Given the description of an element on the screen output the (x, y) to click on. 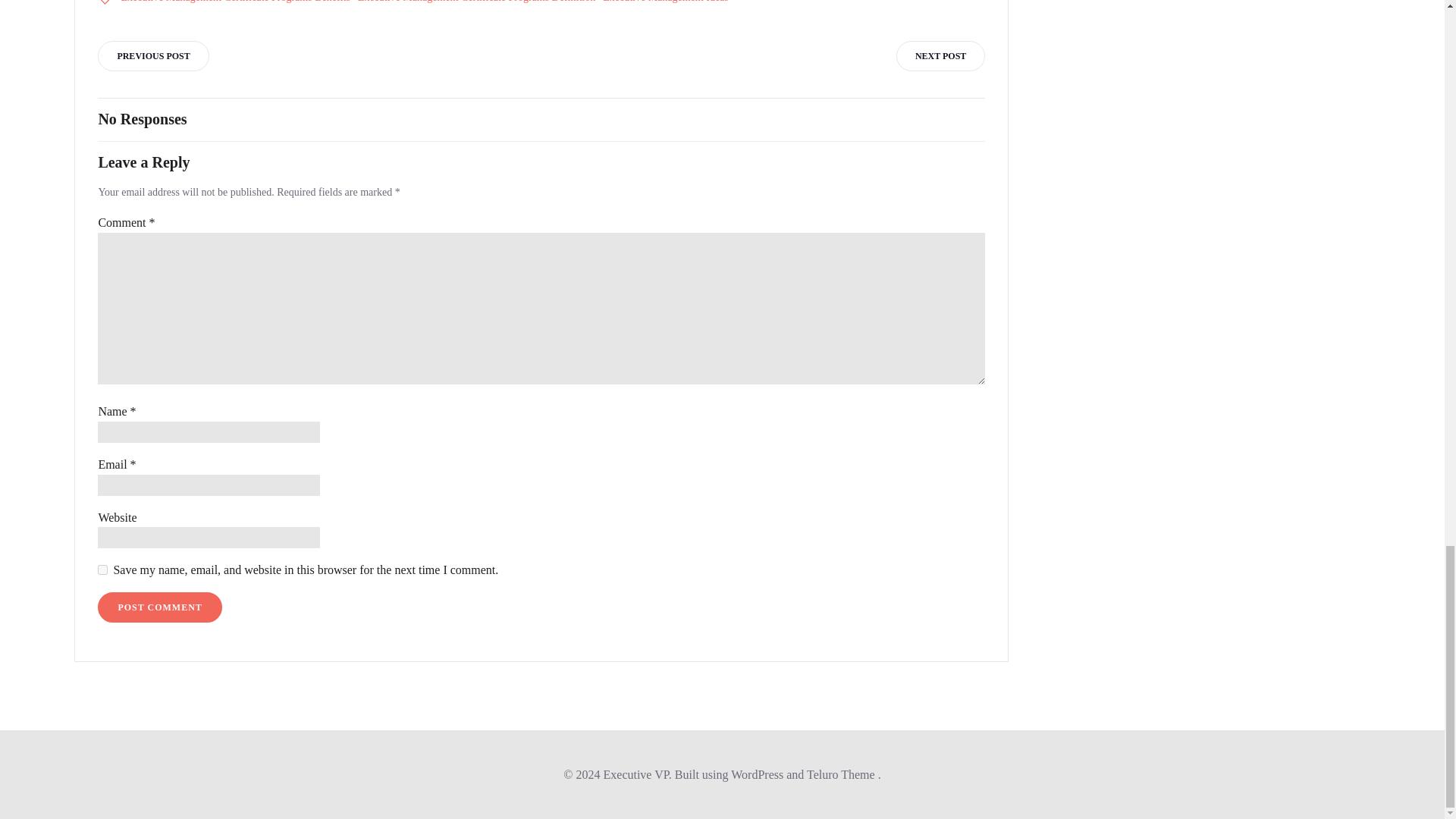
Tag: Executive Management Certificate Programs Definition (476, 2)
Executive Management Certificate Programs Definition (476, 2)
Executive Management Ideas (665, 2)
NEXT POST (940, 55)
Executive Management Certificate Programs Benefits (234, 2)
Post Comment (159, 607)
Tag: Executive Management Certificate Programs Benefits (234, 2)
PREVIOUS POST (152, 55)
Post Comment (159, 607)
Tag: Executive Management Ideas (665, 2)
